Given the description of an element on the screen output the (x, y) to click on. 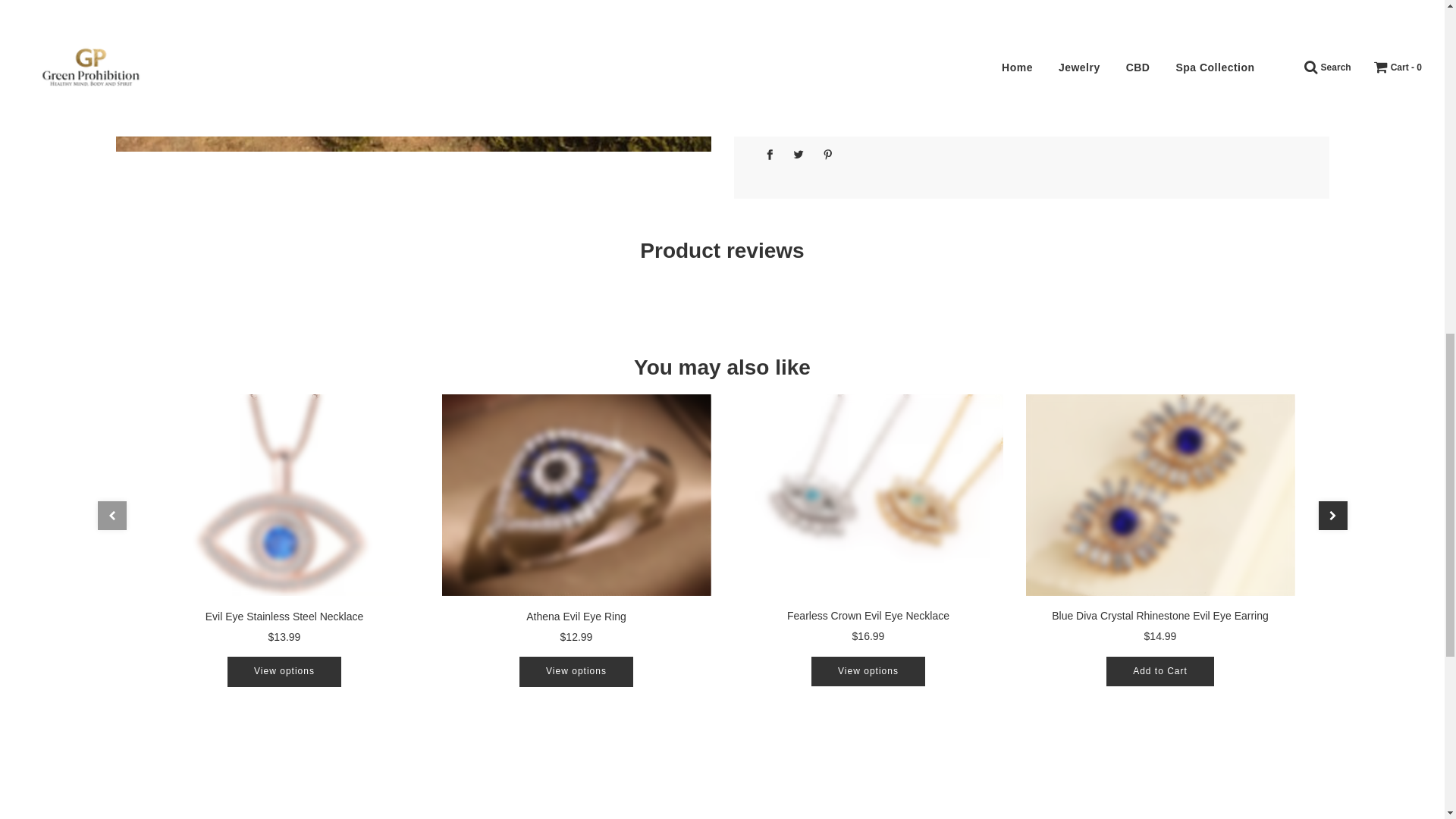
Athena Evil Eye Ring (575, 494)
View options (283, 671)
Fearless Crown Evil Eye Necklace (868, 494)
Athena Evil Eye Ring (575, 615)
Evil Eye Stainless Steel Necklace (284, 615)
Evil Eye Stainless Steel Necklace (284, 494)
Blue Diva Crystal Rhinestone Evil Eye Earring (1159, 494)
View options (576, 671)
Fearless Crown Evil Eye Necklace (868, 615)
